Given the description of an element on the screen output the (x, y) to click on. 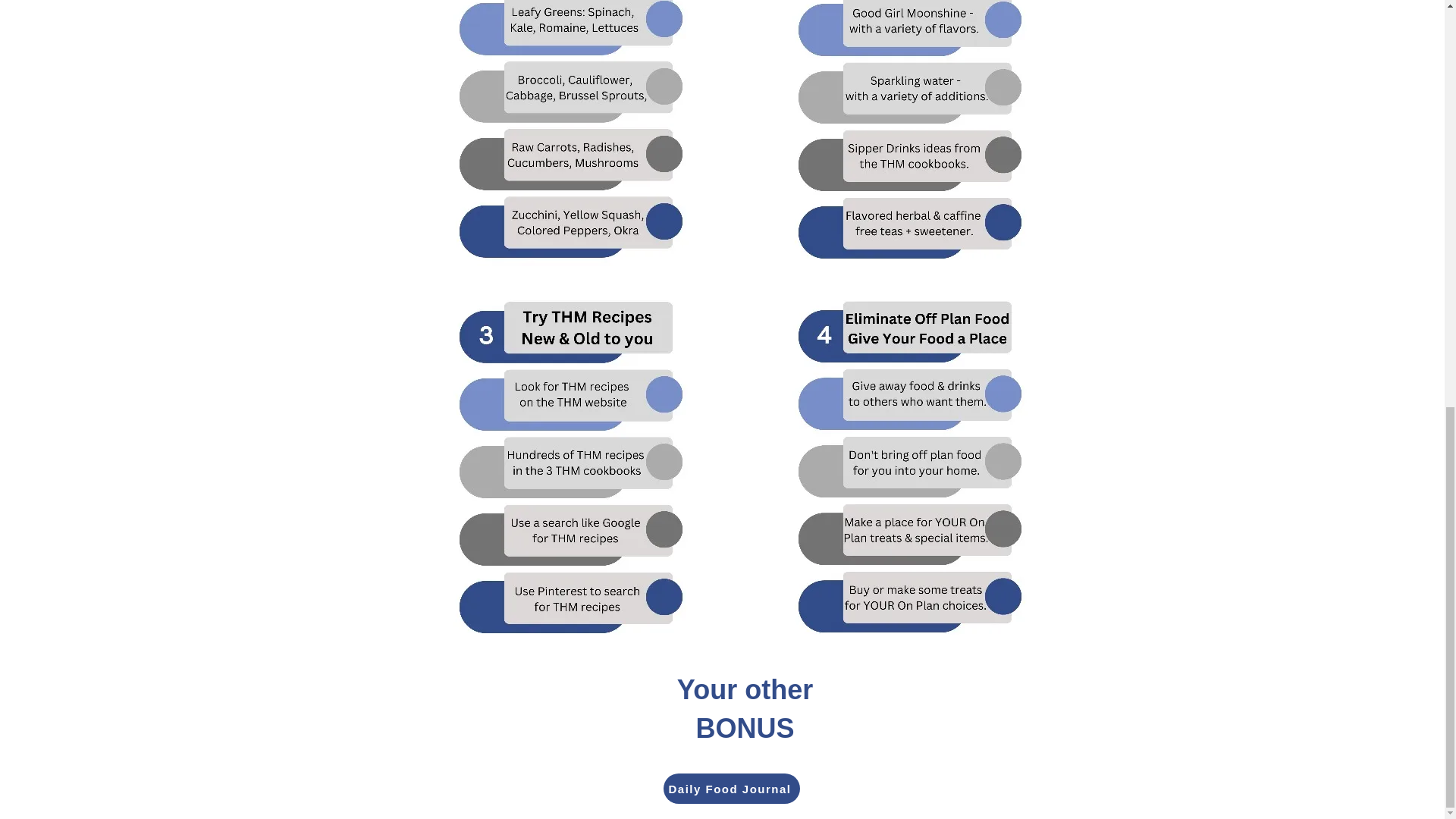
Daily Food Journal (730, 788)
